Given the description of an element on the screen output the (x, y) to click on. 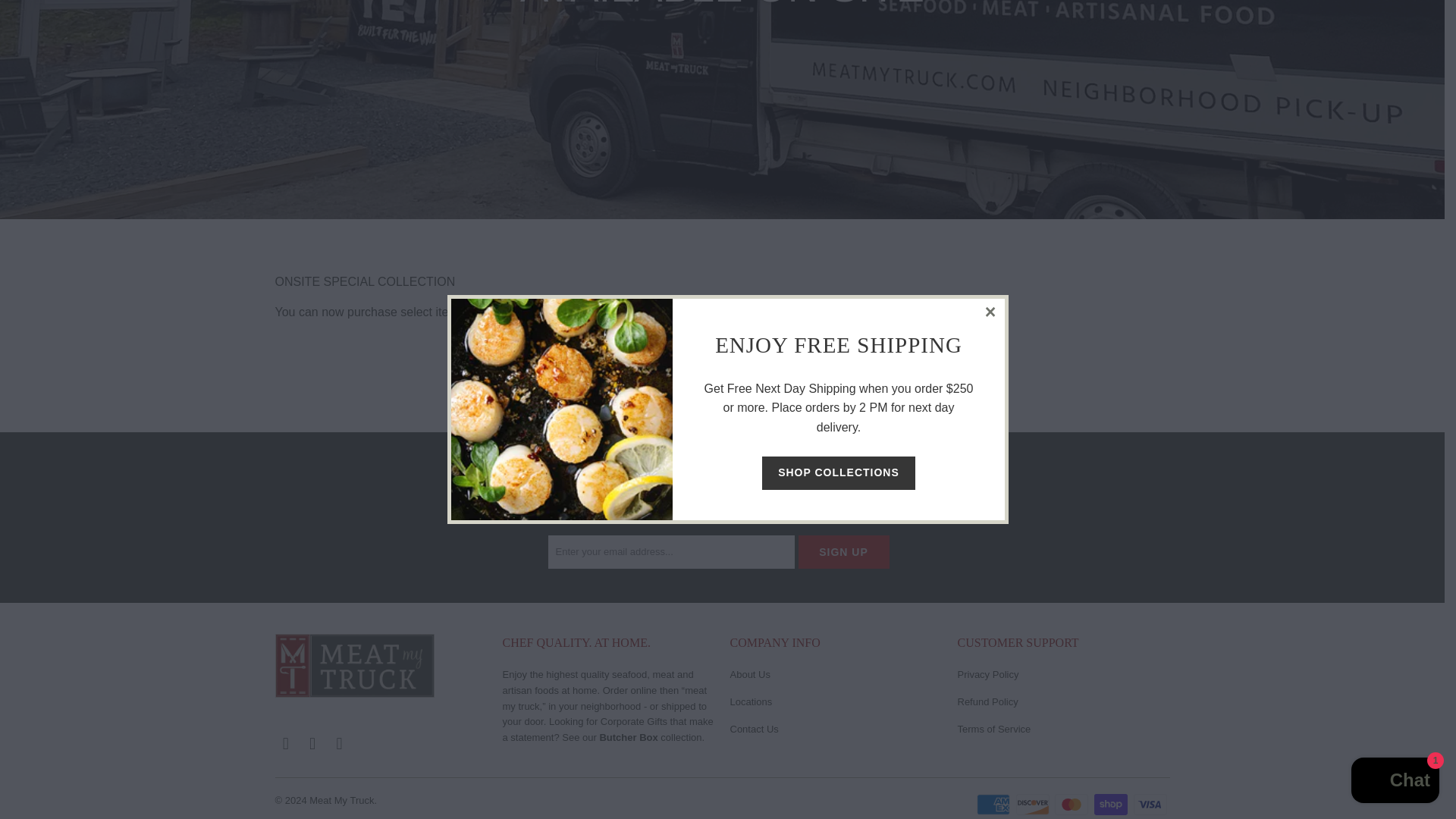
Shop Pay (1112, 804)
American Express (994, 804)
Discover (1034, 804)
Visa (1150, 804)
Mastercard (1072, 804)
